Given the description of an element on the screen output the (x, y) to click on. 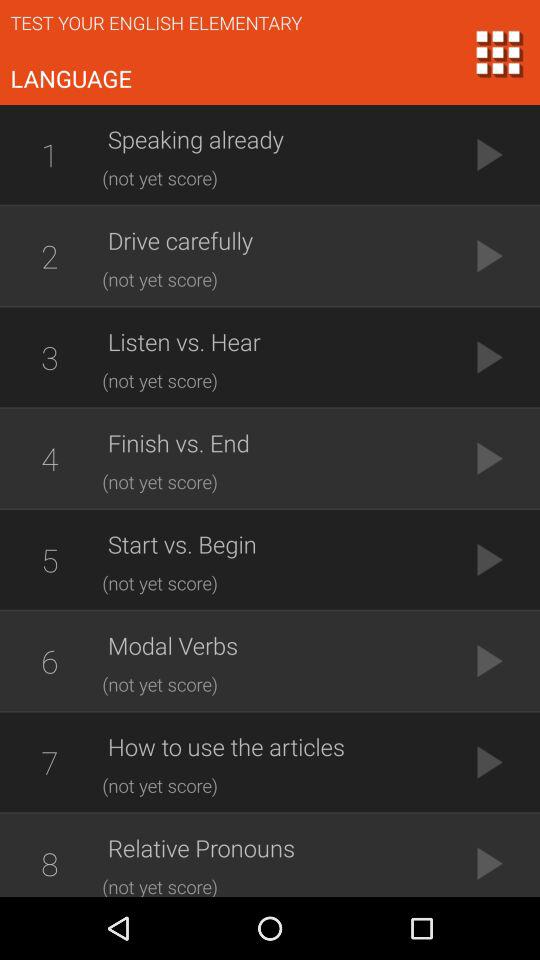
launch item above the 8 (49, 762)
